Given the description of an element on the screen output the (x, y) to click on. 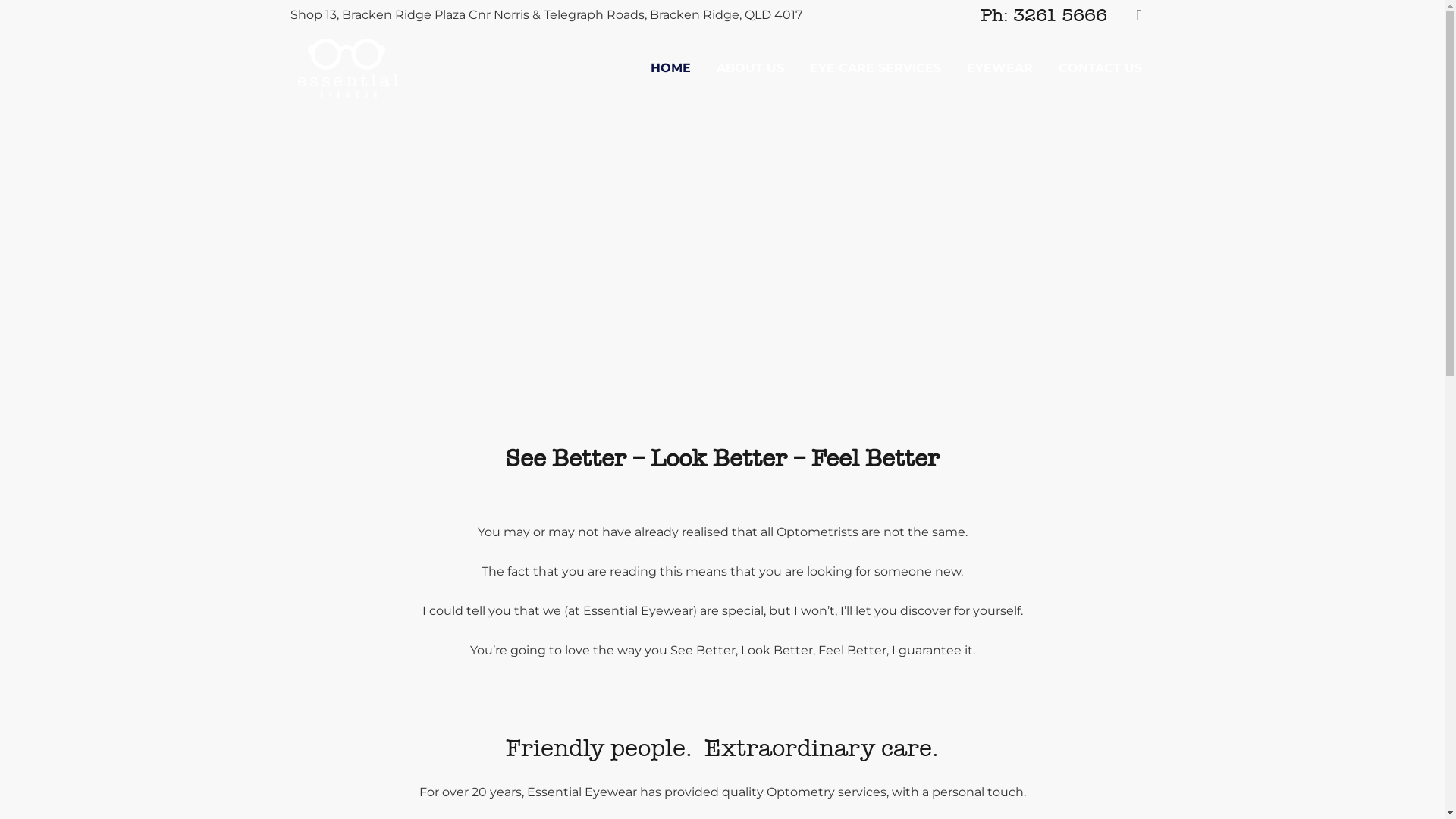
ABOUT US Element type: text (750, 68)
Facebook Element type: hover (1139, 15)
HOME Element type: text (670, 68)
EYE CARE SERVICES Element type: text (875, 68)
EYEWEAR Element type: text (999, 68)
CONTACT US Element type: text (1099, 68)
